Given the description of an element on the screen output the (x, y) to click on. 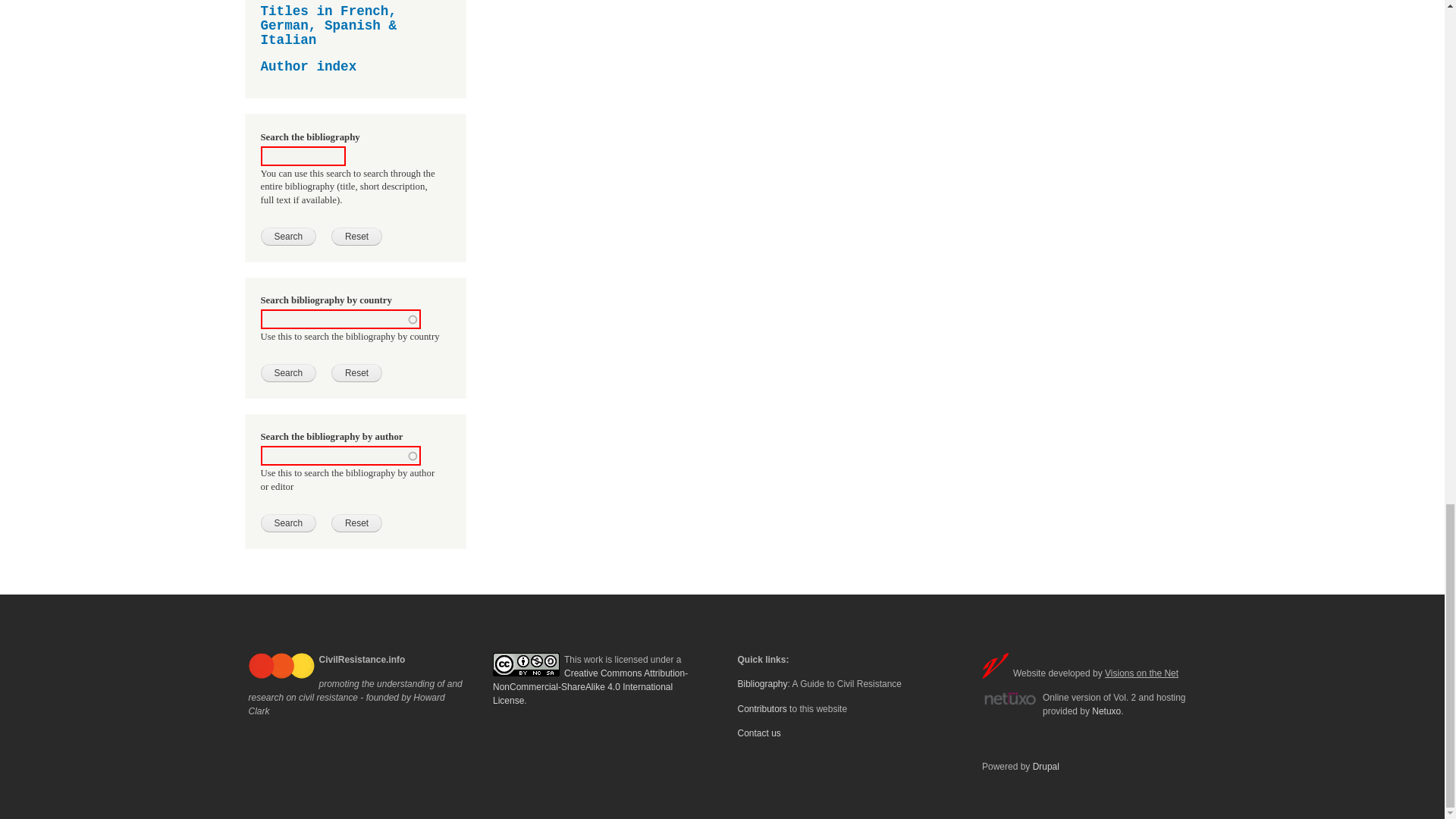
Reset (356, 236)
Reset (356, 372)
Search (288, 523)
Enter the terms you wish to search for. (303, 156)
Reset (356, 523)
Search (288, 372)
Search (288, 236)
